Given the description of an element on the screen output the (x, y) to click on. 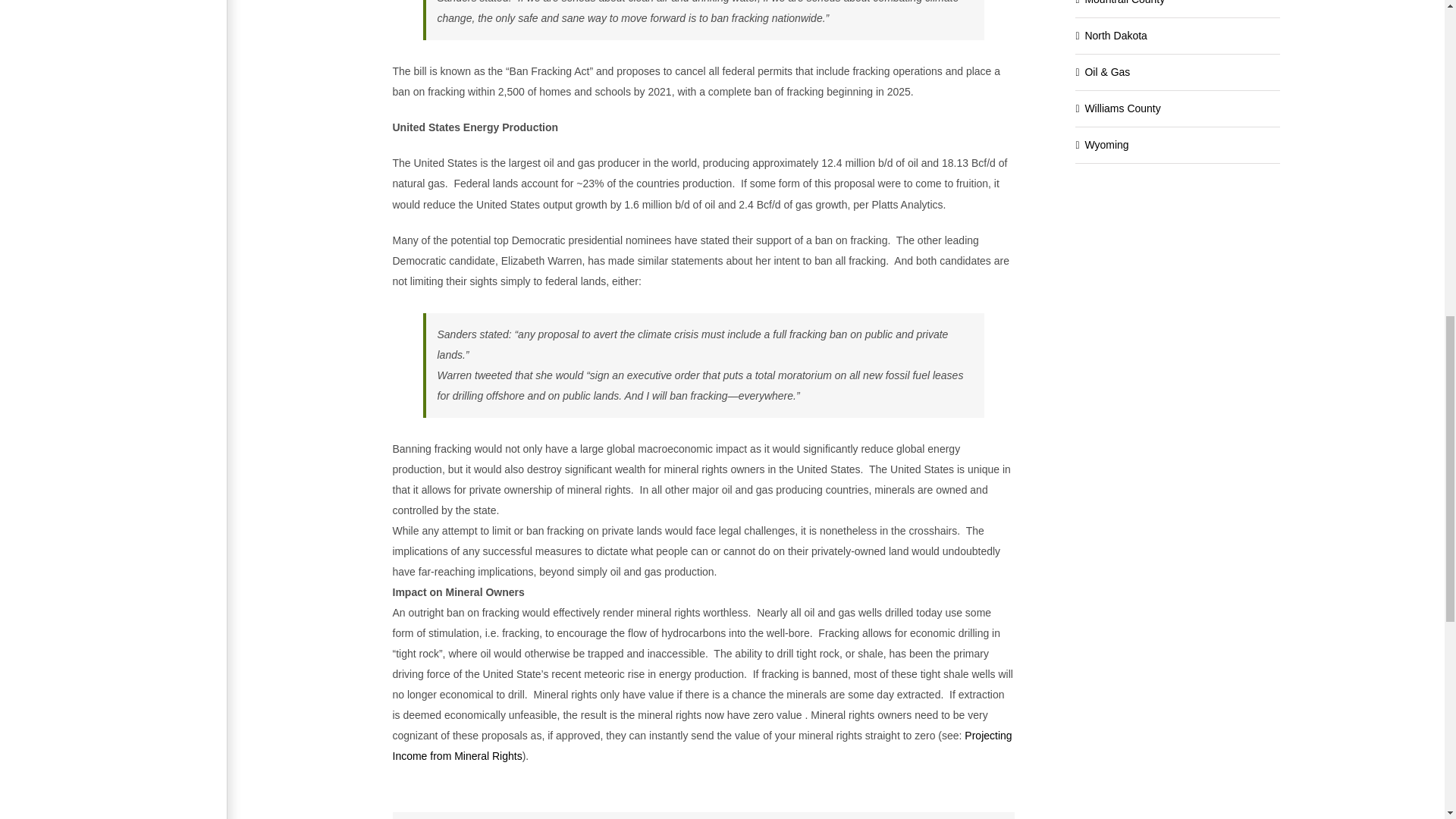
Projecting Income from Mineral Rights (702, 745)
